Given the description of an element on the screen output the (x, y) to click on. 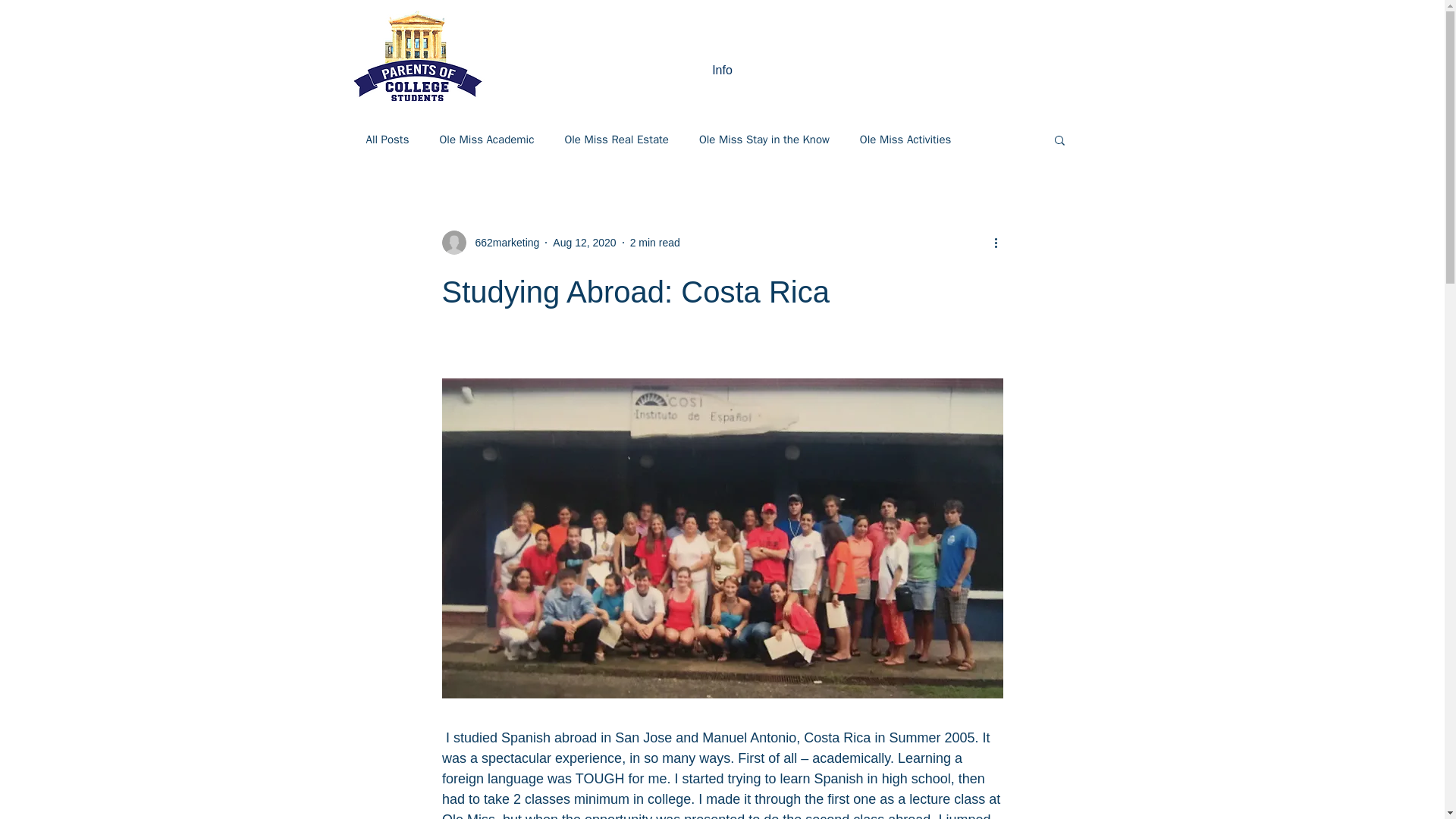
Ole Miss Real Estate (616, 138)
Ole Miss Academic (486, 138)
Ole Miss Stay in the Know (763, 138)
Ole Miss Activities (905, 138)
All Posts (387, 138)
2 min read (654, 242)
Aug 12, 2020 (584, 242)
662marketing (501, 242)
662marketing (489, 242)
